Given the description of an element on the screen output the (x, y) to click on. 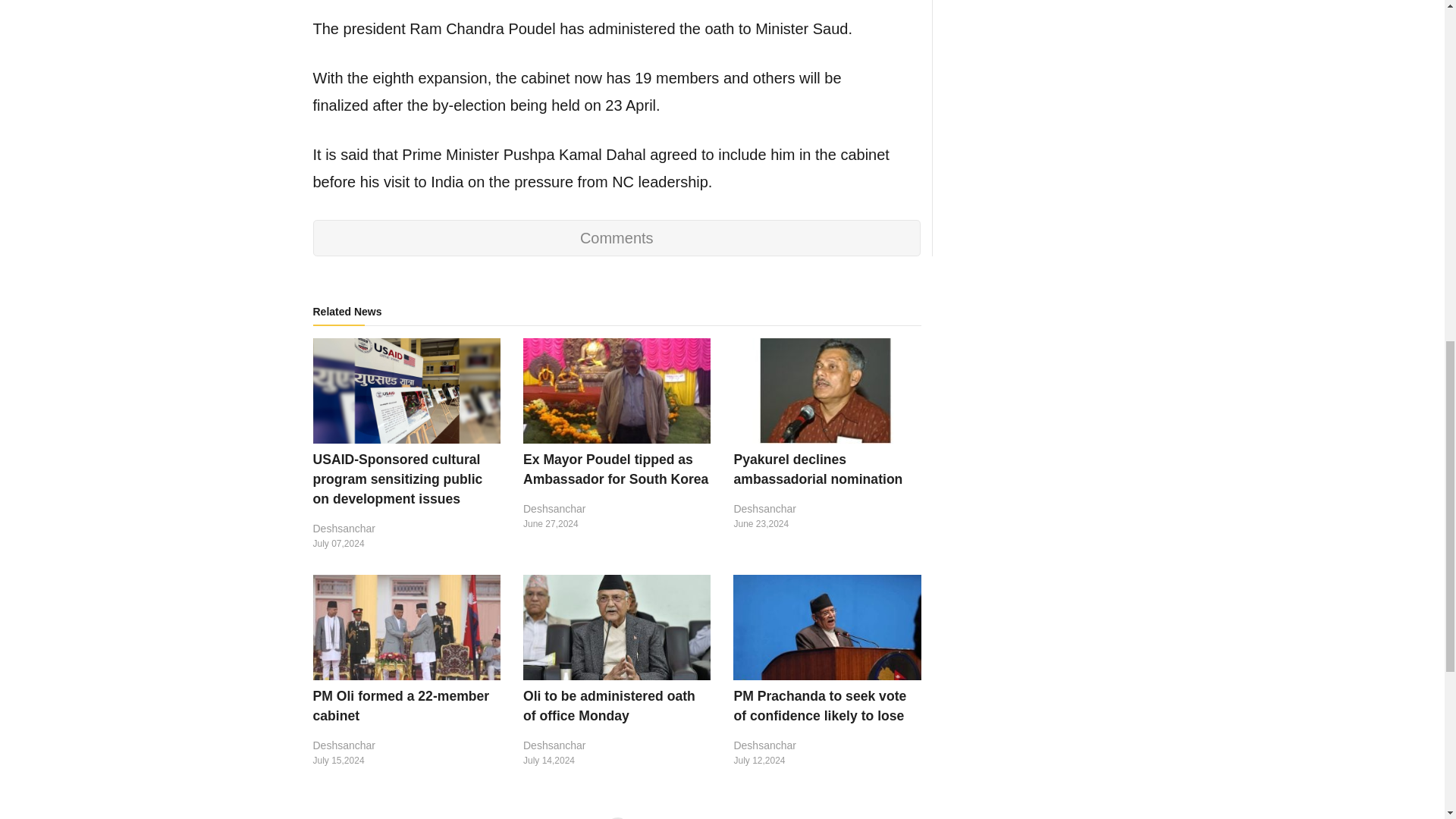
Comments (616, 238)
Pyakurel declines ambassadorial nomination (817, 469)
Ex Mayor Poudel tipped as Ambassador for South Korea (614, 469)
July 07,2024 (406, 543)
June 23,2024 (826, 523)
June 27,2024 (616, 523)
